Given the description of an element on the screen output the (x, y) to click on. 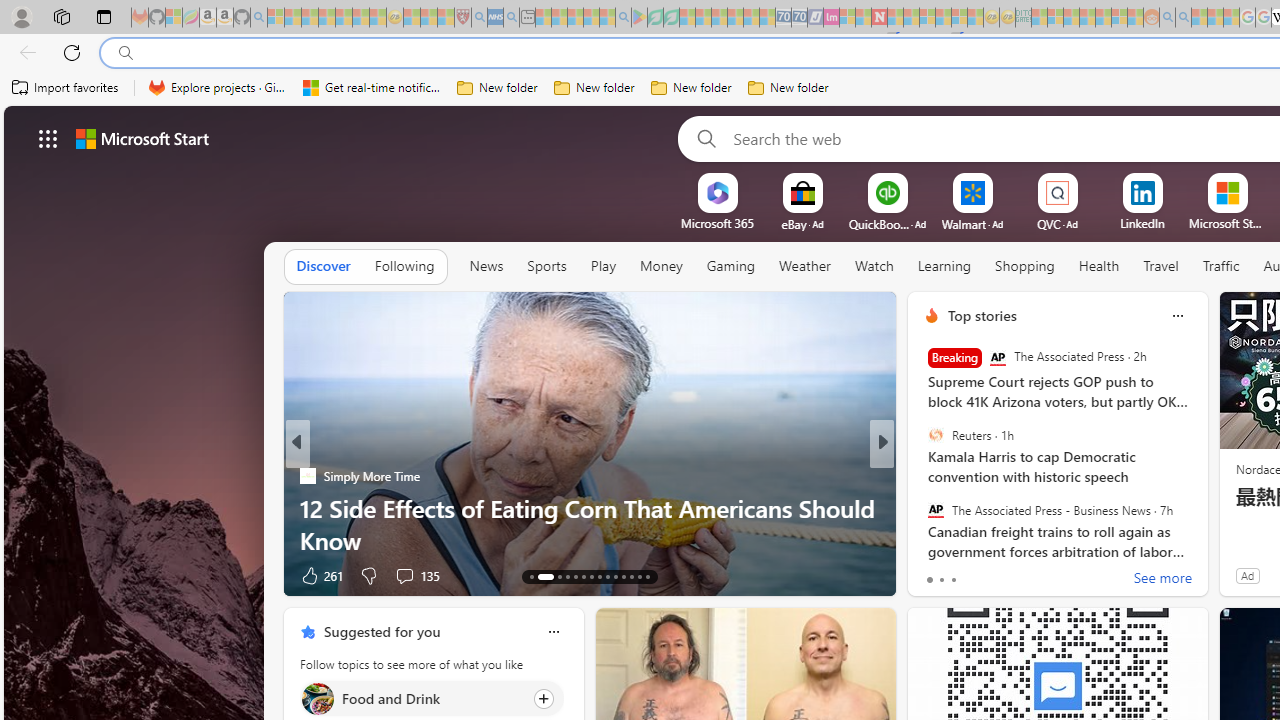
Microsoft start (142, 138)
AutomationID: tab-17 (574, 576)
View comments 31 Comment (1029, 574)
659 Like (936, 574)
1k Like (317, 574)
684 Like (936, 574)
Food and Drink (317, 697)
View comments 308 Comment (397, 575)
